Given the description of an element on the screen output the (x, y) to click on. 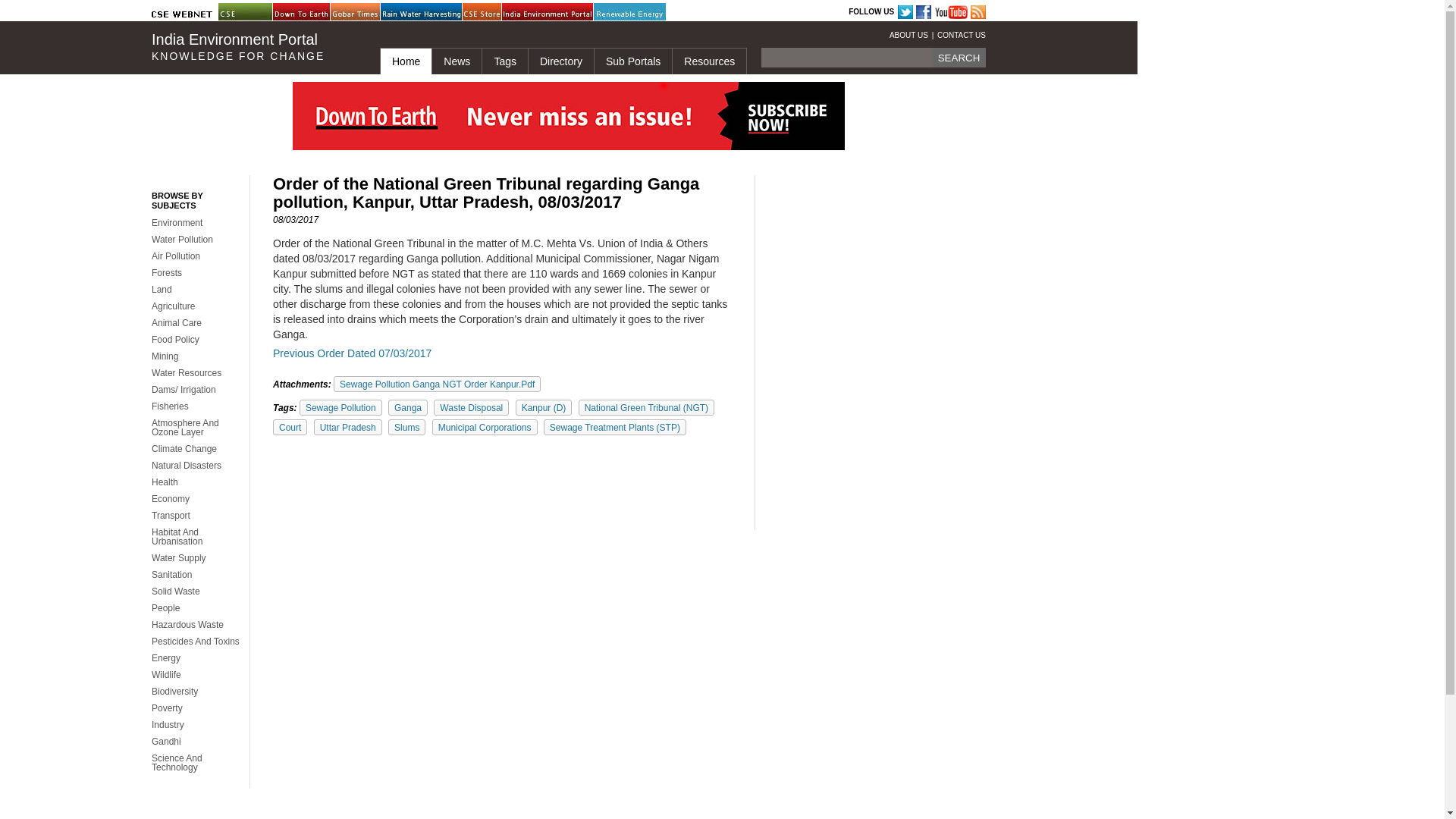
India Environment Portal KNOWLEDGE FOR CHANGE (253, 46)
Down to Earth (311, 11)
News (455, 60)
CSE Store (500, 11)
CSE (256, 11)
Directory (560, 60)
Rain Water Harvesting (418, 11)
Sub Portals (632, 60)
Home (405, 60)
Gobar Times (368, 11)
